Given the description of an element on the screen output the (x, y) to click on. 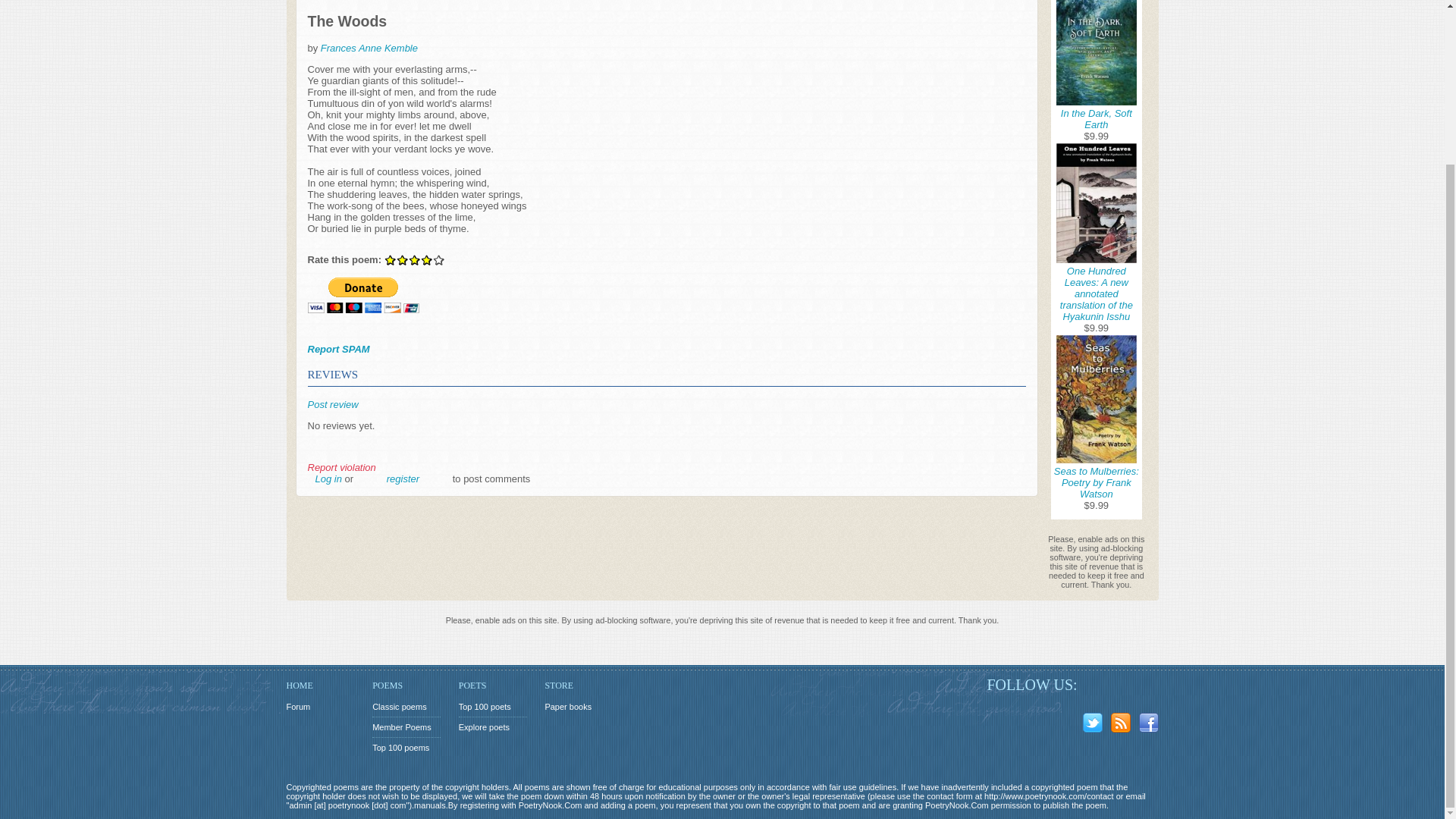
Top 100 poets (492, 706)
Twitter (1095, 724)
STORE (578, 685)
Report violation (341, 467)
Follow Poetry Nook on Facebook (1150, 724)
Facebook (1150, 724)
register (402, 478)
Top 100 poems (406, 747)
RSS (1122, 724)
Follow Poetry Nook on RSS (1122, 724)
POEMS (406, 685)
In the Dark, Soft Earth (1096, 118)
Forum (320, 706)
POETS (492, 685)
